Given the description of an element on the screen output the (x, y) to click on. 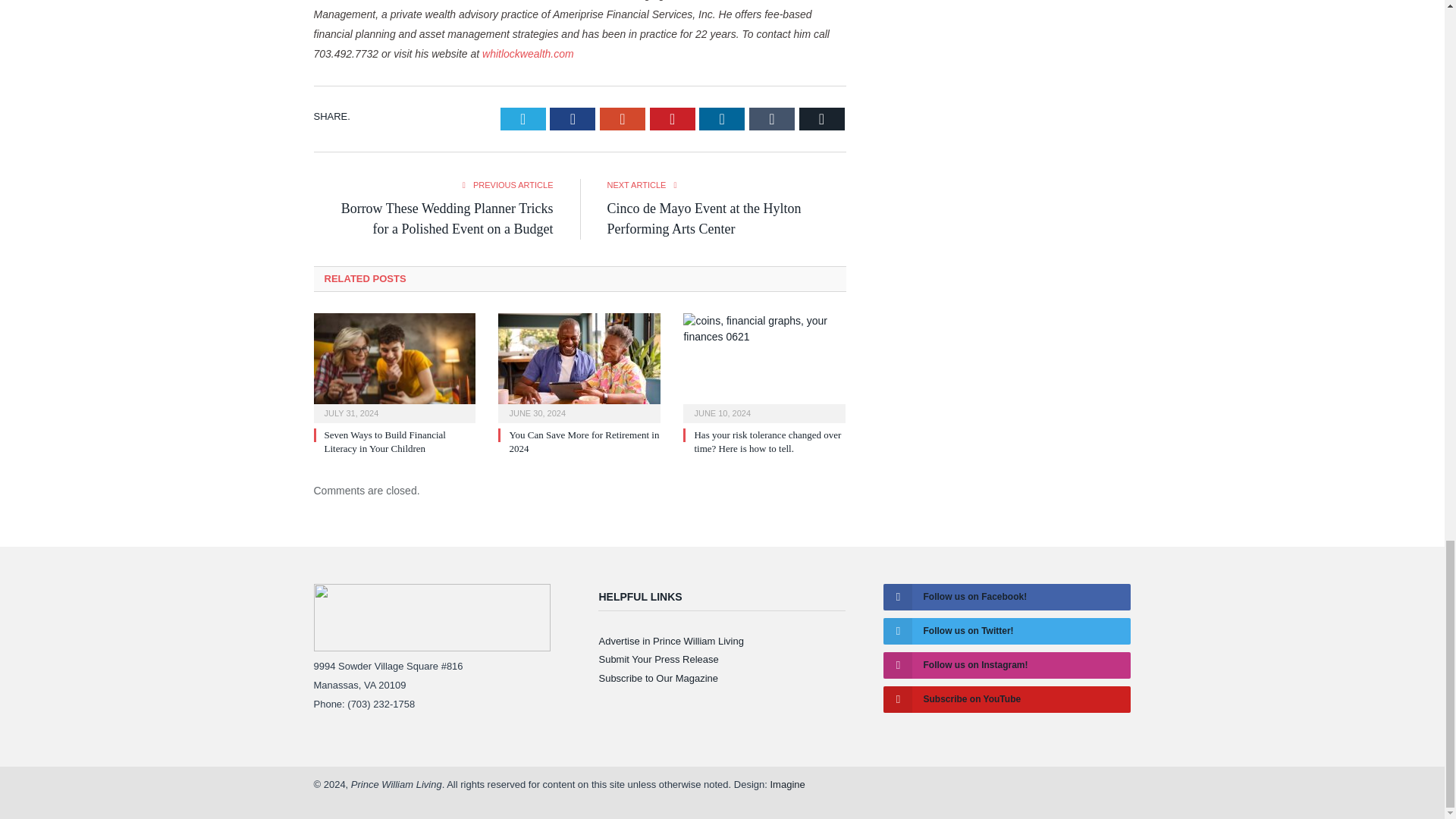
Seven Ways to Build Financial Literacy in Your Children (395, 365)
You Can Save More for Retirement in 2024 (579, 365)
You Can Save More for Retirement in 2024 (583, 441)
Seven Ways to Build Financial Literacy in Your Children (384, 441)
